Given the description of an element on the screen output the (x, y) to click on. 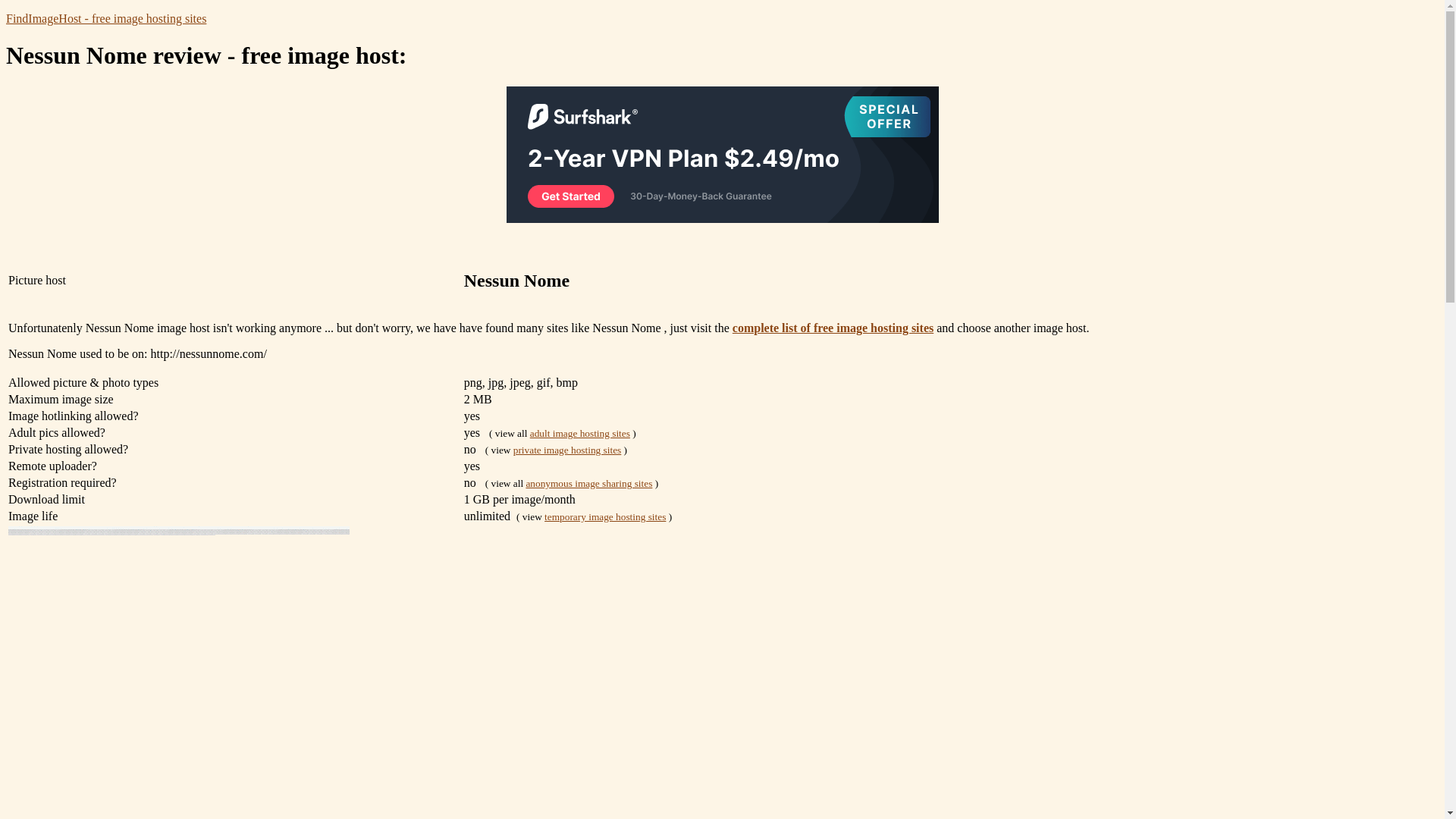
adult image hosting sites (579, 432)
temporary image hosting sites (604, 516)
complete list of free image hosting sites (832, 327)
private image hosting sites (567, 449)
FindImageHost - free image hosting sites (105, 18)
anonymous image sharing sites (588, 482)
